Given the description of an element on the screen output the (x, y) to click on. 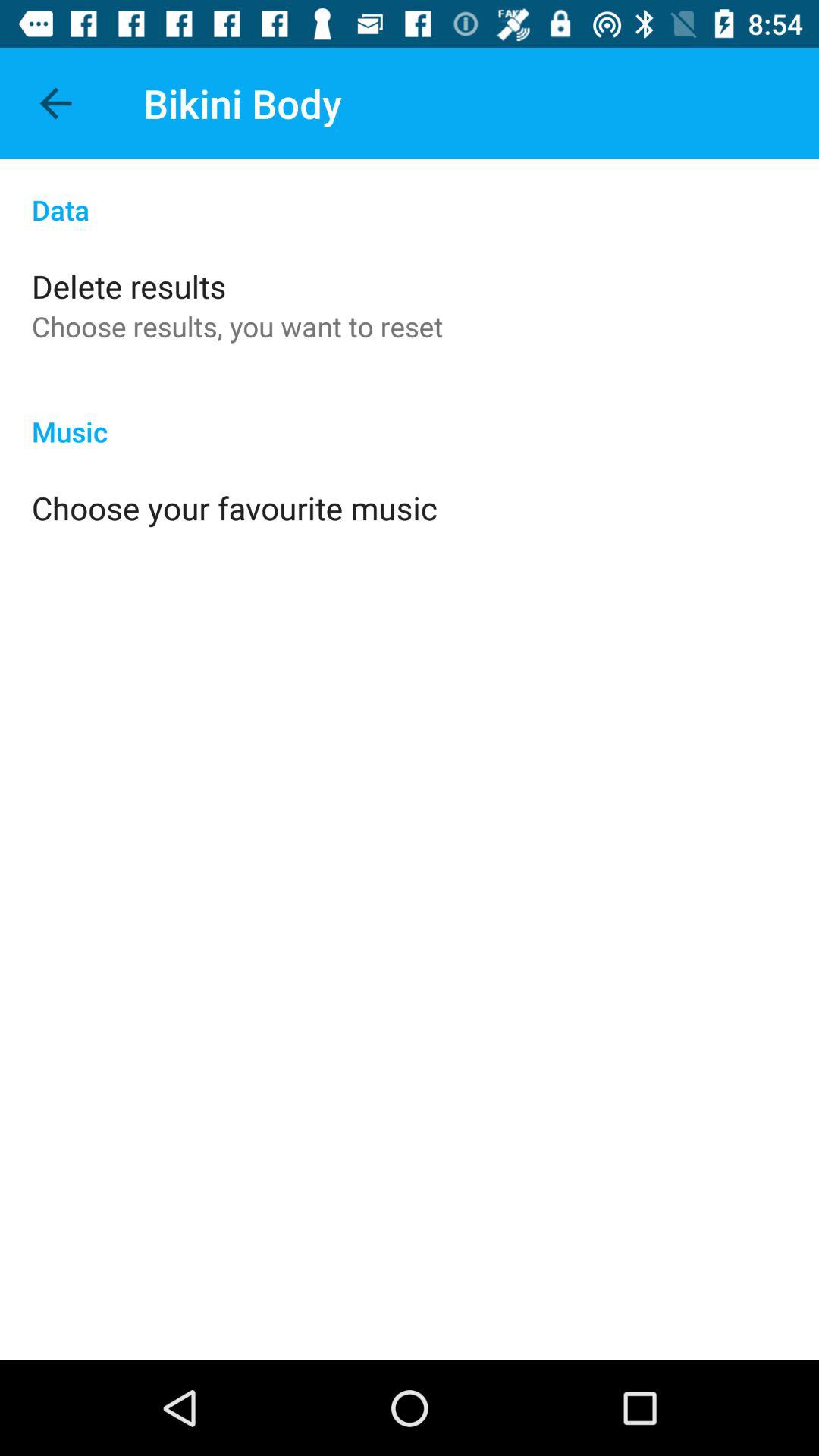
turn off item above the data item (55, 103)
